Given the description of an element on the screen output the (x, y) to click on. 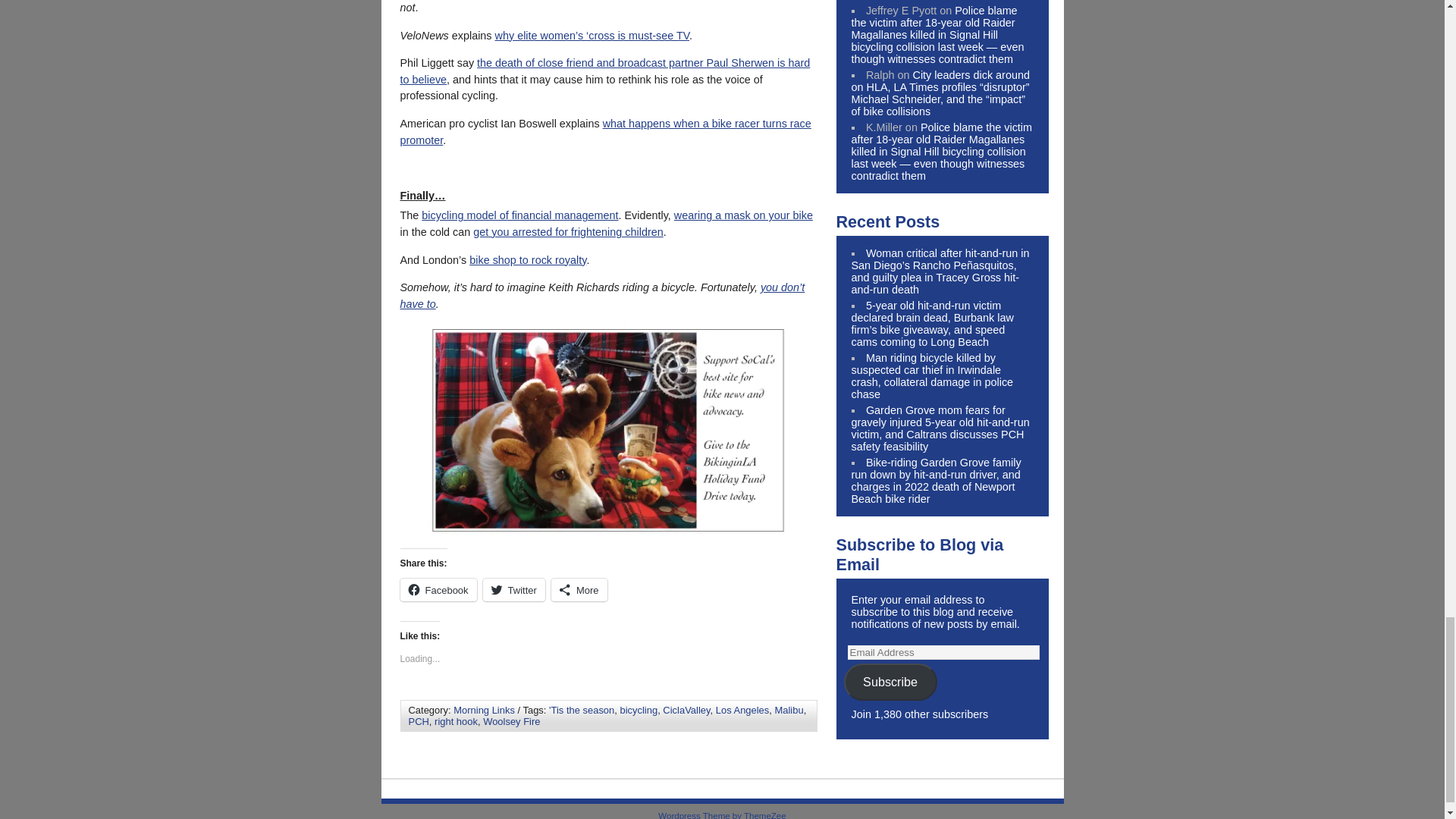
Click to share on Facebook (438, 589)
Click to share on Twitter (513, 589)
